Given the description of an element on the screen output the (x, y) to click on. 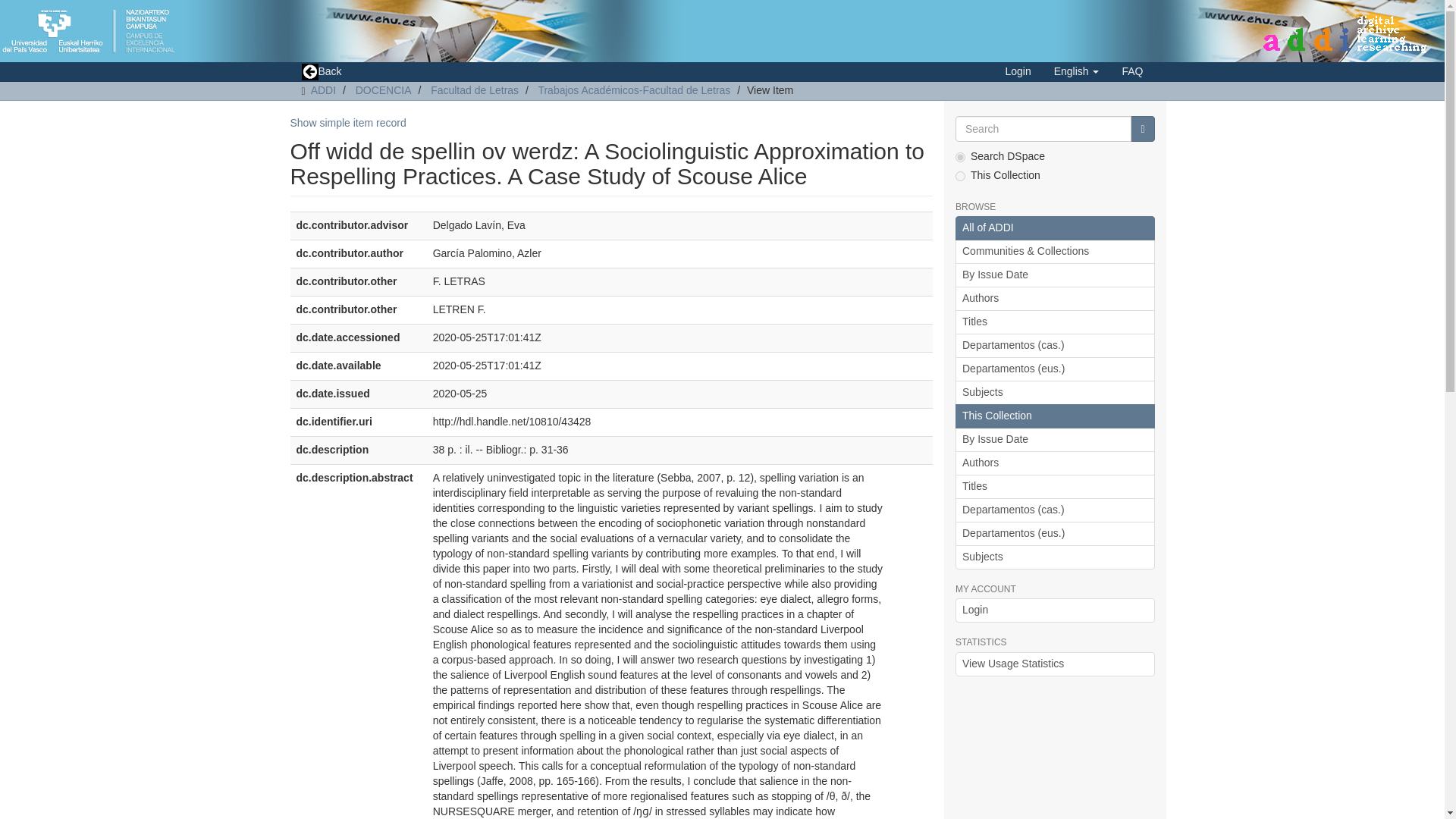
Show simple item record (347, 122)
Go (1142, 128)
Facultad de Letras (474, 90)
ADDI (323, 90)
Login (1017, 71)
DOCENCIA (383, 90)
English  (1076, 71)
Back (320, 71)
FAQ (1131, 71)
All of ADDI (1054, 228)
